Given the description of an element on the screen output the (x, y) to click on. 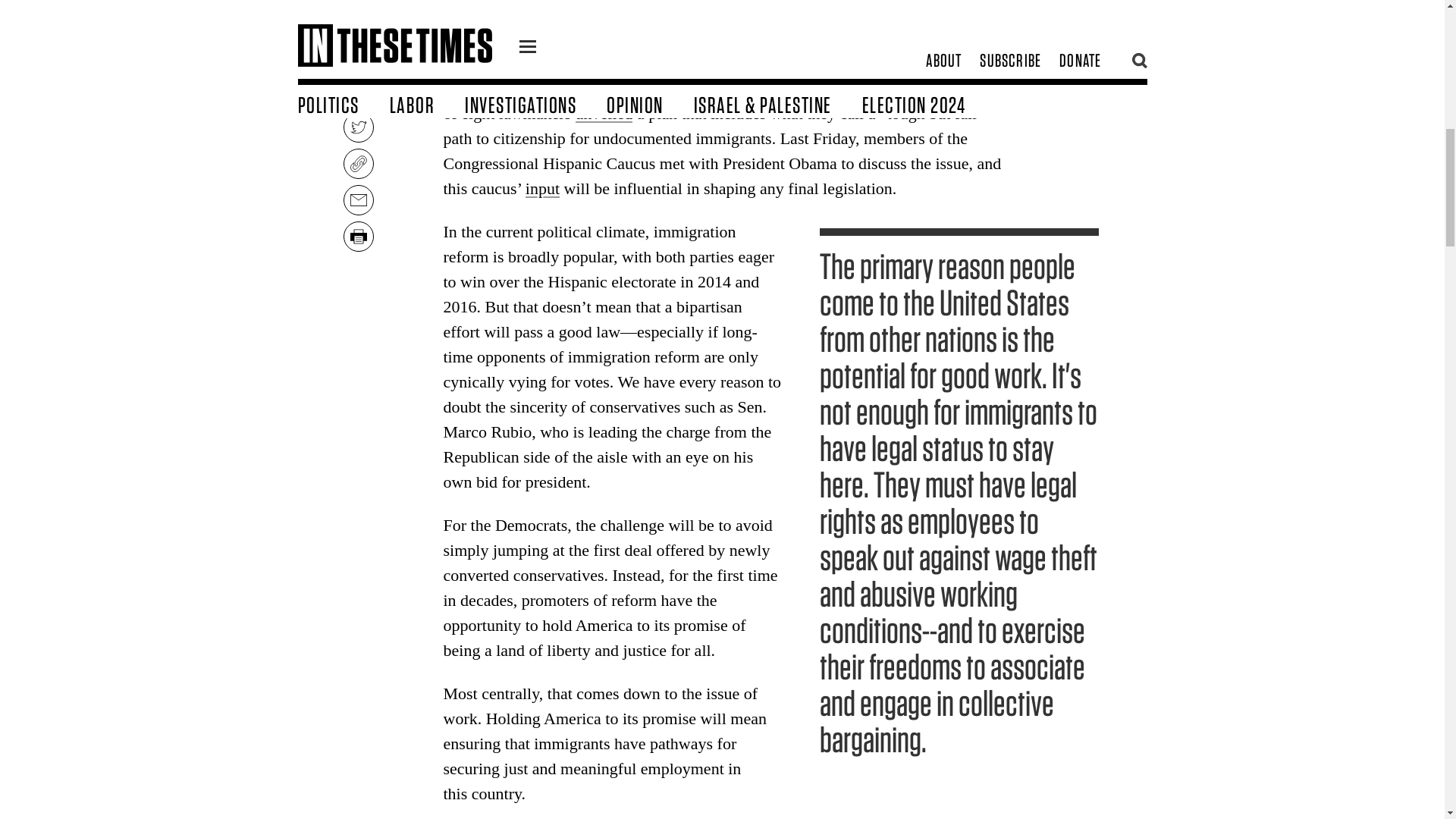
unveiled (604, 113)
Flickr (795, 3)
input (542, 188)
